Given the description of an element on the screen output the (x, y) to click on. 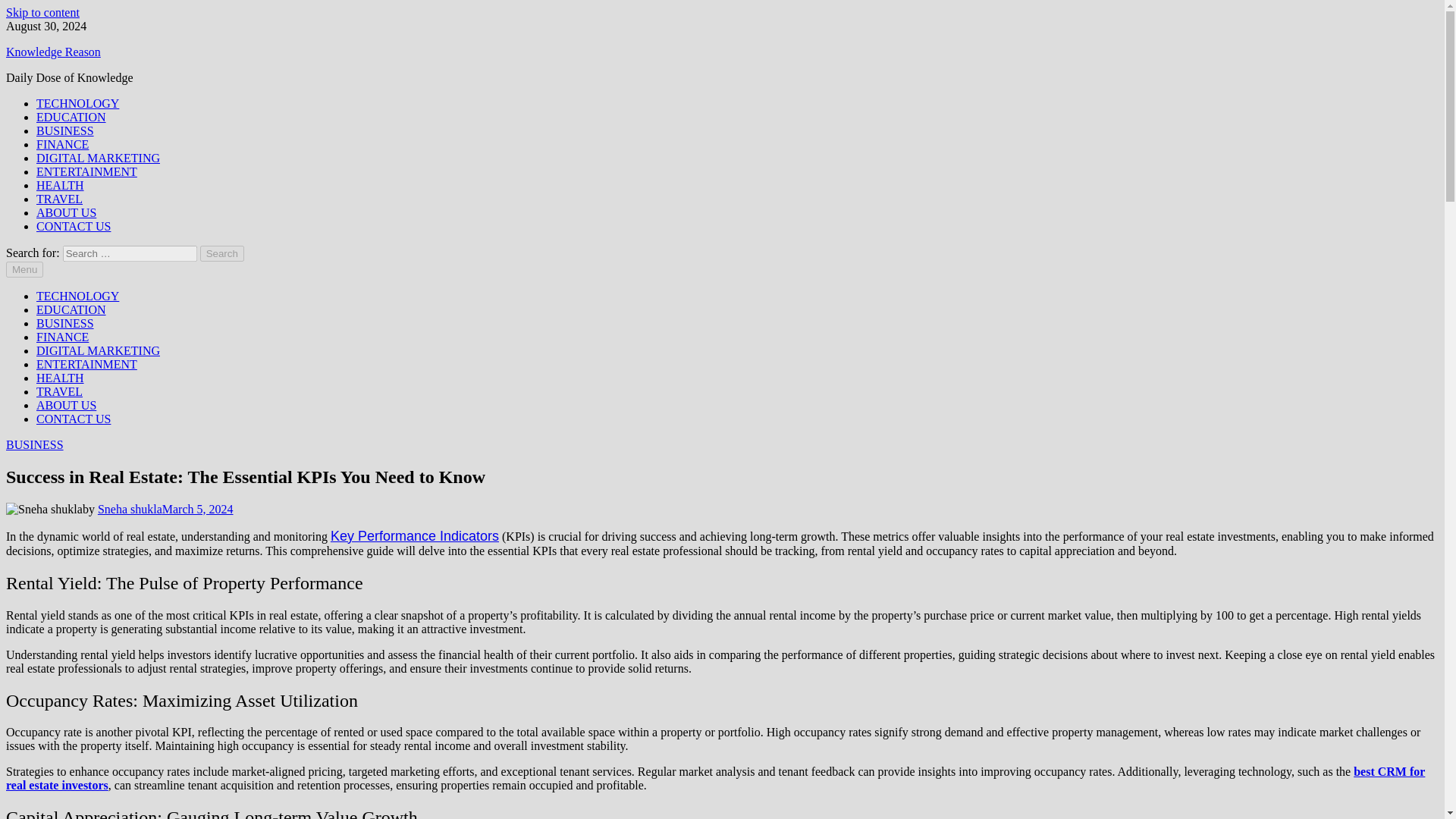
TECHNOLOGY (77, 295)
TRAVEL (59, 391)
March 5, 2024 (196, 508)
FINANCE (62, 144)
DIGITAL MARKETING (98, 350)
Menu (24, 269)
TECHNOLOGY (77, 103)
Knowledge Reason (52, 51)
Search (222, 253)
CONTACT US (73, 418)
